Given the description of an element on the screen output the (x, y) to click on. 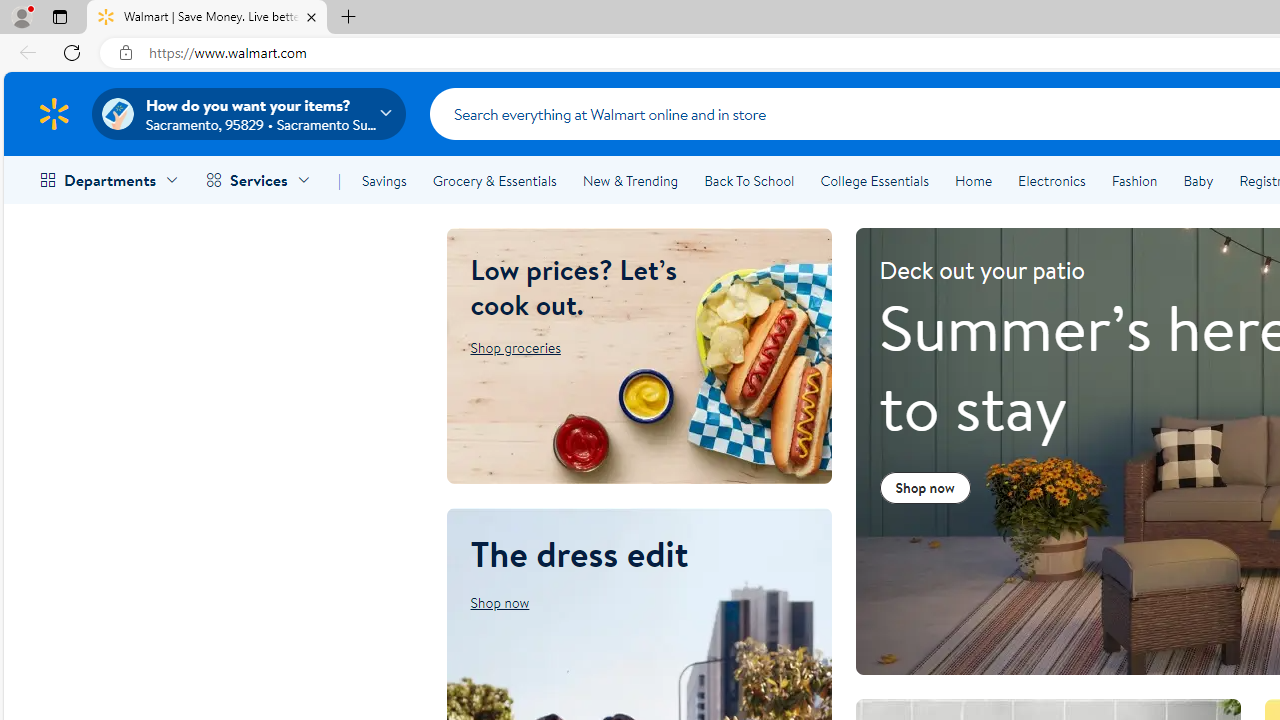
Walmart | Save Money. Live better. (207, 17)
